Given the description of an element on the screen output the (x, y) to click on. 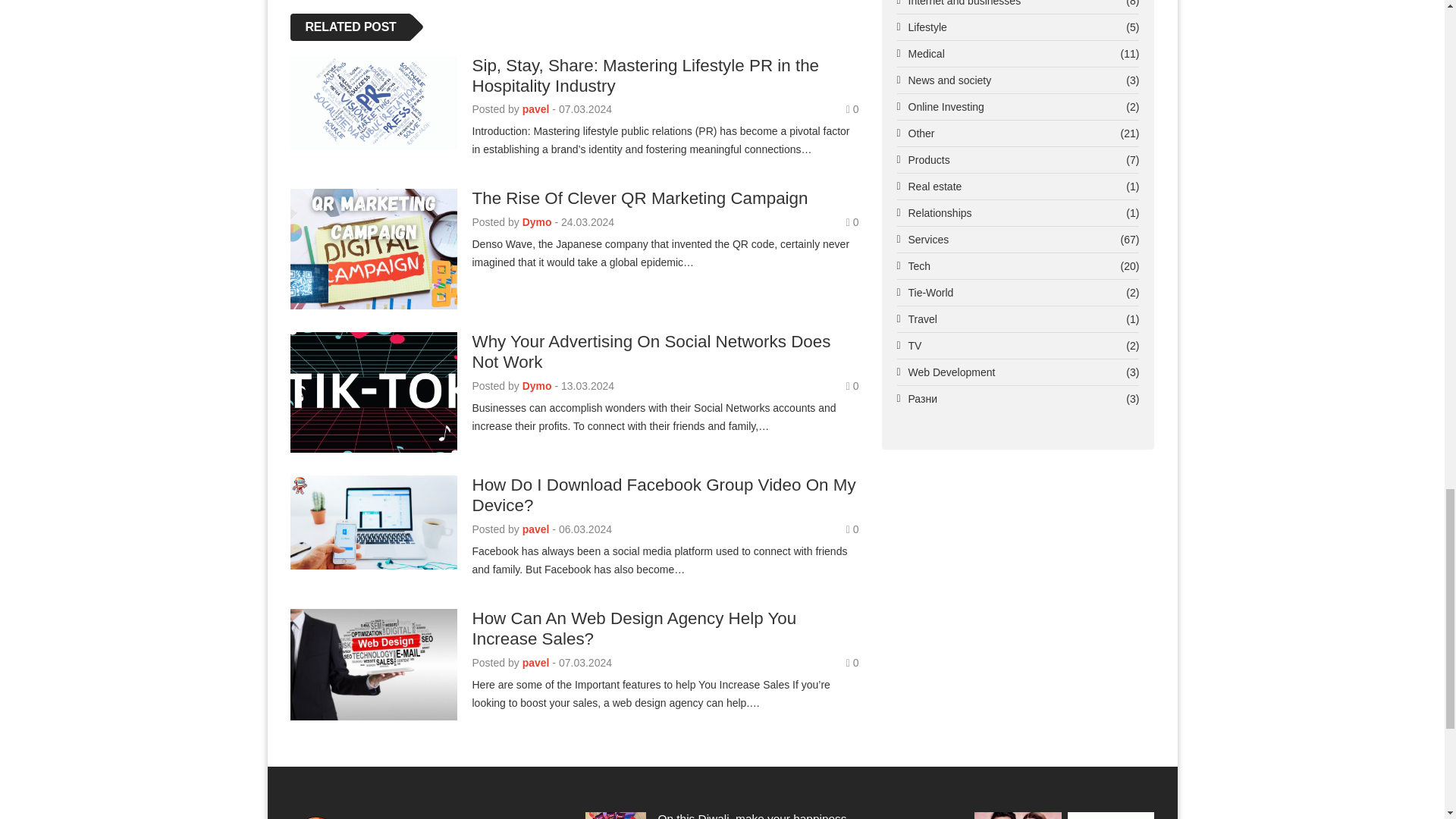
Posts by pavel (536, 109)
Posts by pavel (536, 529)
Posts by pavel (536, 662)
Posts by Dymo (536, 222)
Posts by Dymo (536, 386)
